Given the description of an element on the screen output the (x, y) to click on. 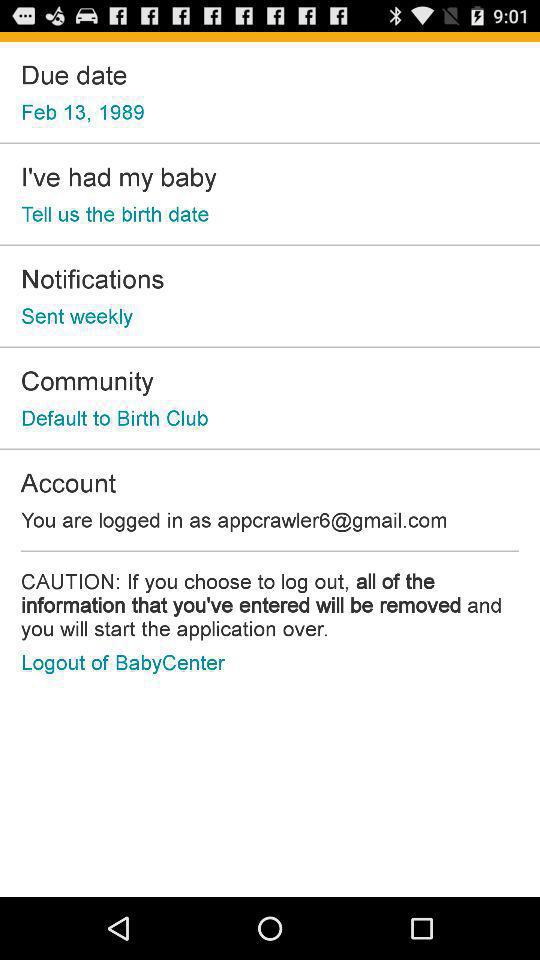
swipe until logout of babycenter (122, 662)
